Given the description of an element on the screen output the (x, y) to click on. 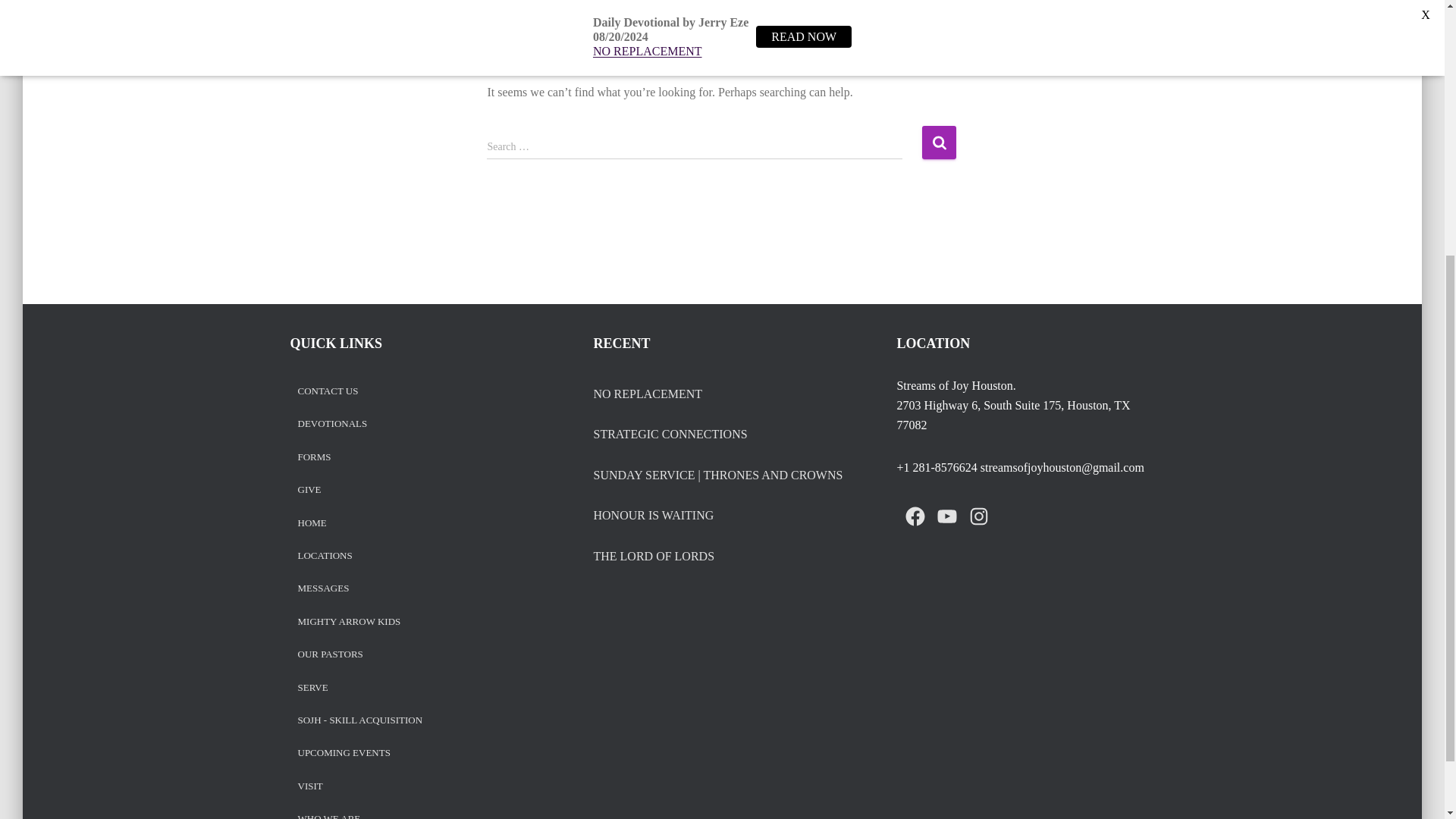
Search (938, 142)
SOJH - SKILL ACQUISITION (359, 720)
LOCATIONS (324, 556)
HOME (311, 523)
MIGHTY ARROW KIDS (348, 622)
HONOUR IS WAITING (652, 515)
Search (938, 142)
MESSAGES (323, 588)
THE LORD OF LORDS (653, 556)
UPCOMING EVENTS (343, 753)
